Given the description of an element on the screen output the (x, y) to click on. 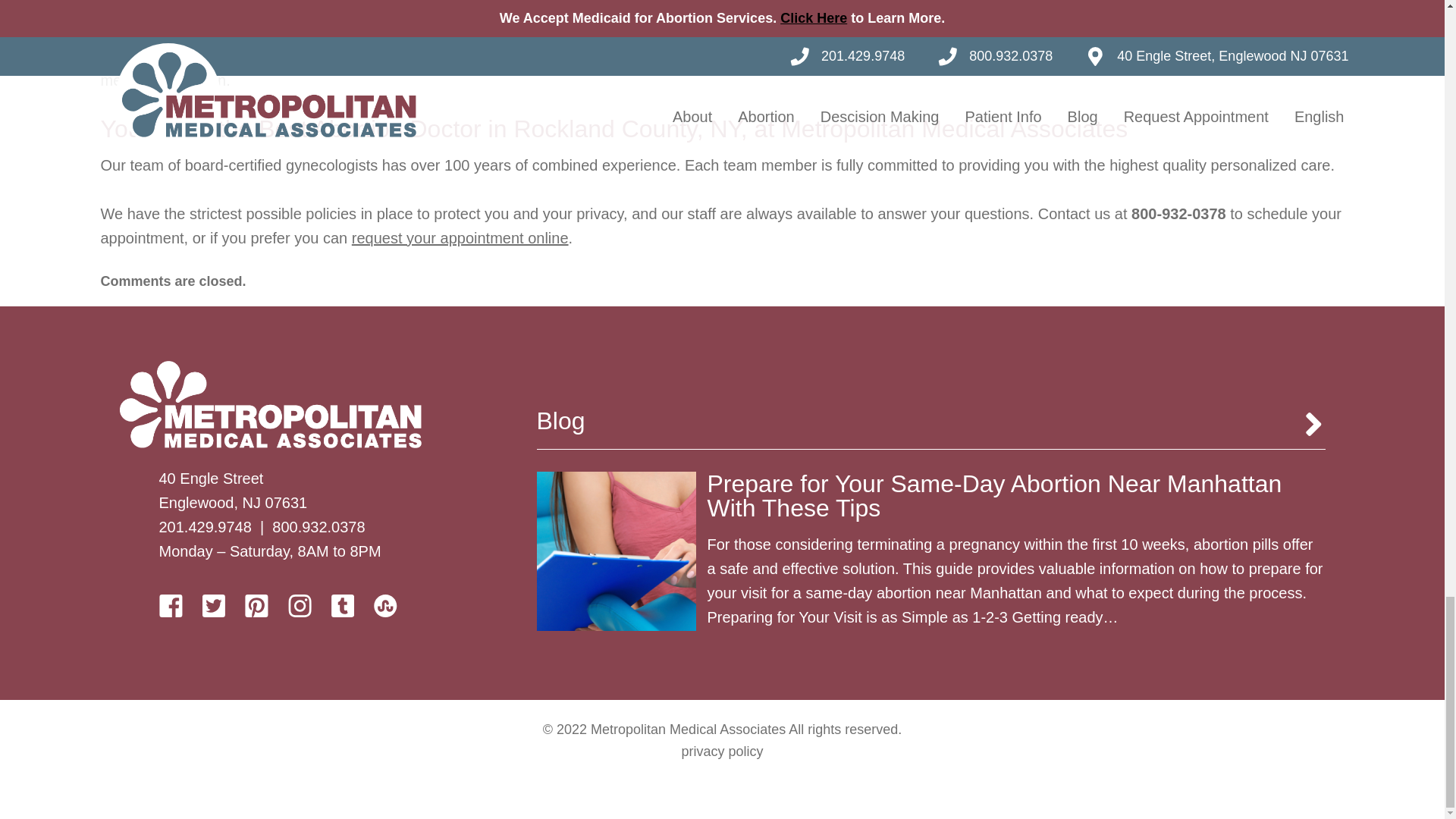
201.429.9748 (204, 526)
Metropolitan Medical Associates (270, 404)
request your appointment online (460, 238)
800.932.0378 (318, 526)
